Given the description of an element on the screen output the (x, y) to click on. 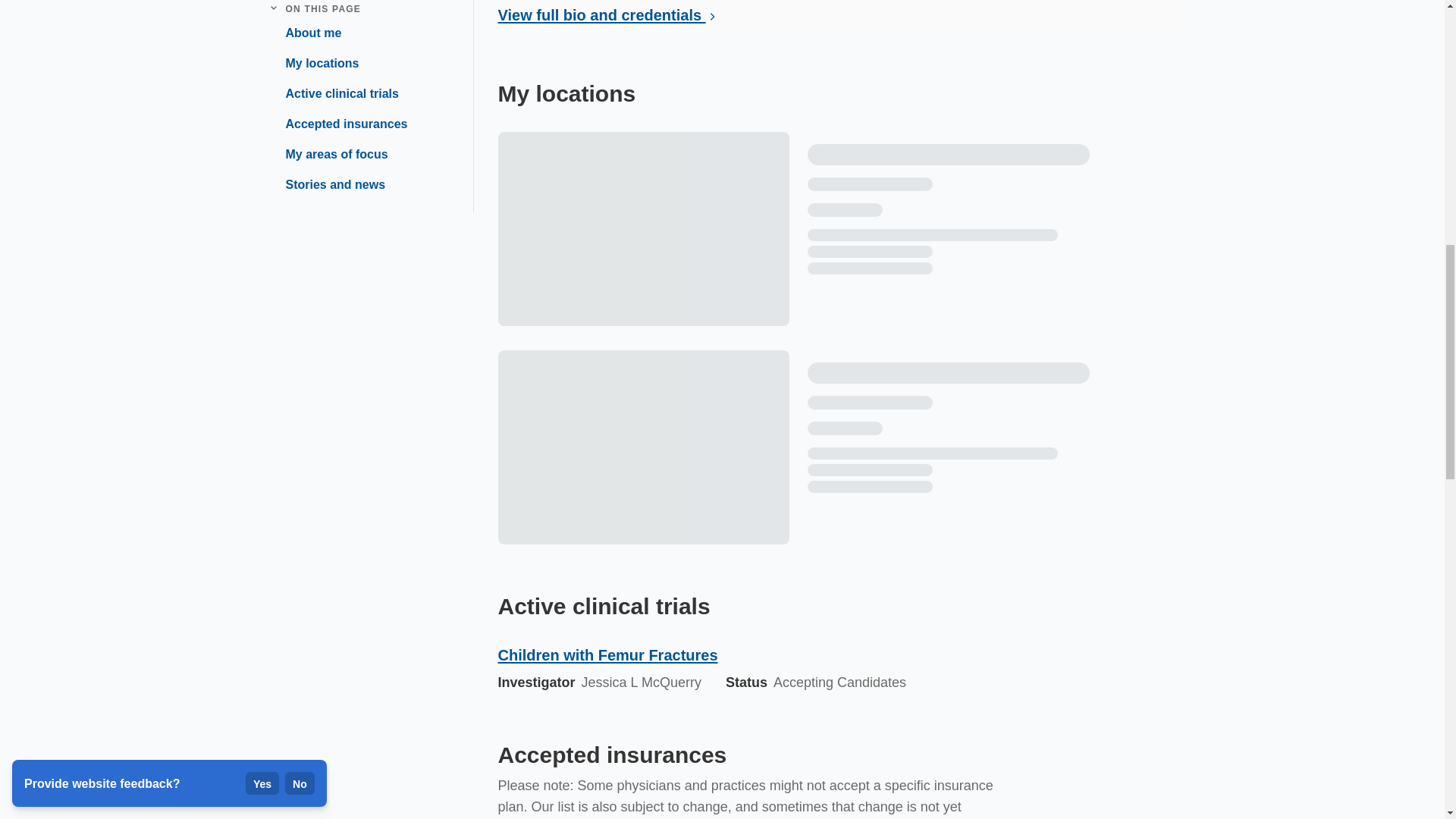
Accepted insurances (339, 120)
View full bio and credentials (610, 15)
Active clinical trials (335, 89)
About me (306, 29)
Children with Femur Fractures (788, 654)
My areas of focus (329, 150)
Collapse navigation (272, 7)
My locations (315, 59)
Stories and news (328, 180)
